Given the description of an element on the screen output the (x, y) to click on. 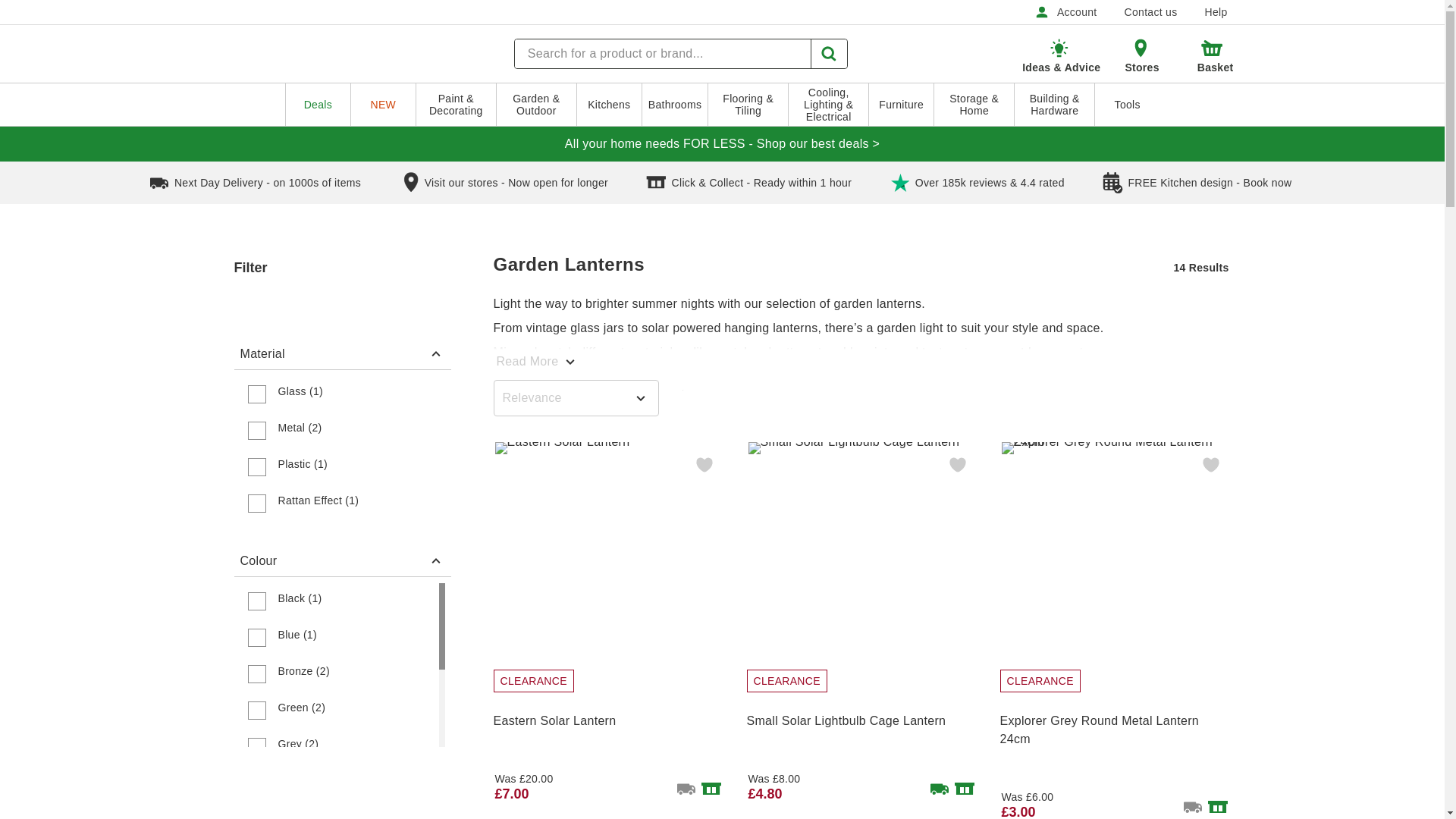
Explorer Grey Round Metal Lantern 24cm (1113, 726)
Help (1215, 12)
Search for a product or brand... (662, 53)
Small Solar Lightbulb Cage Lantern (860, 554)
Account (1064, 12)
Deals (317, 104)
Explorer Grey Round Metal Lantern 24cm (1113, 554)
Eastern Solar Lantern (607, 554)
Basket (1212, 54)
Stores (1141, 54)
